Given the description of an element on the screen output the (x, y) to click on. 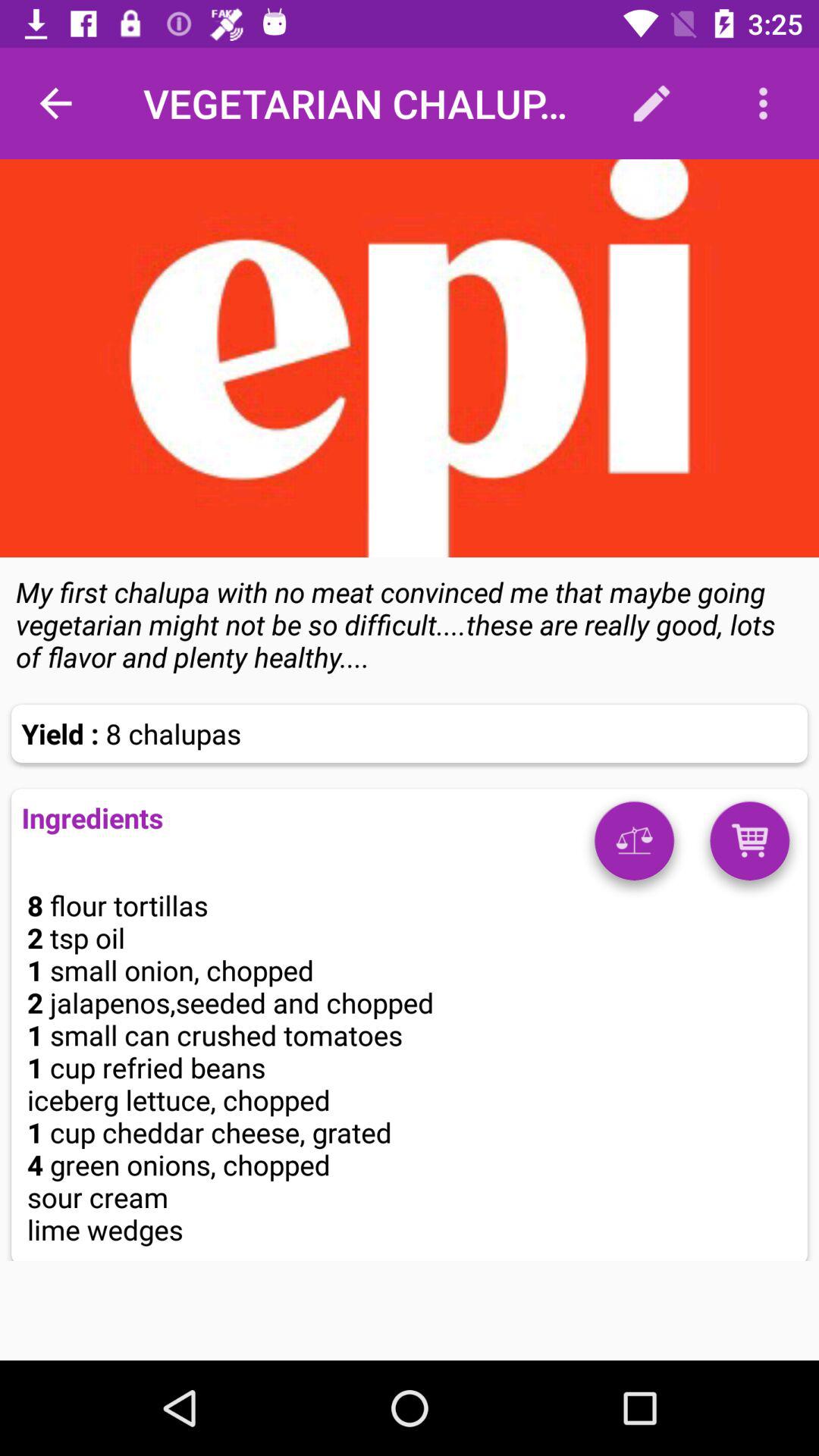
open the icon below the my first chalupa item (749, 846)
